Given the description of an element on the screen output the (x, y) to click on. 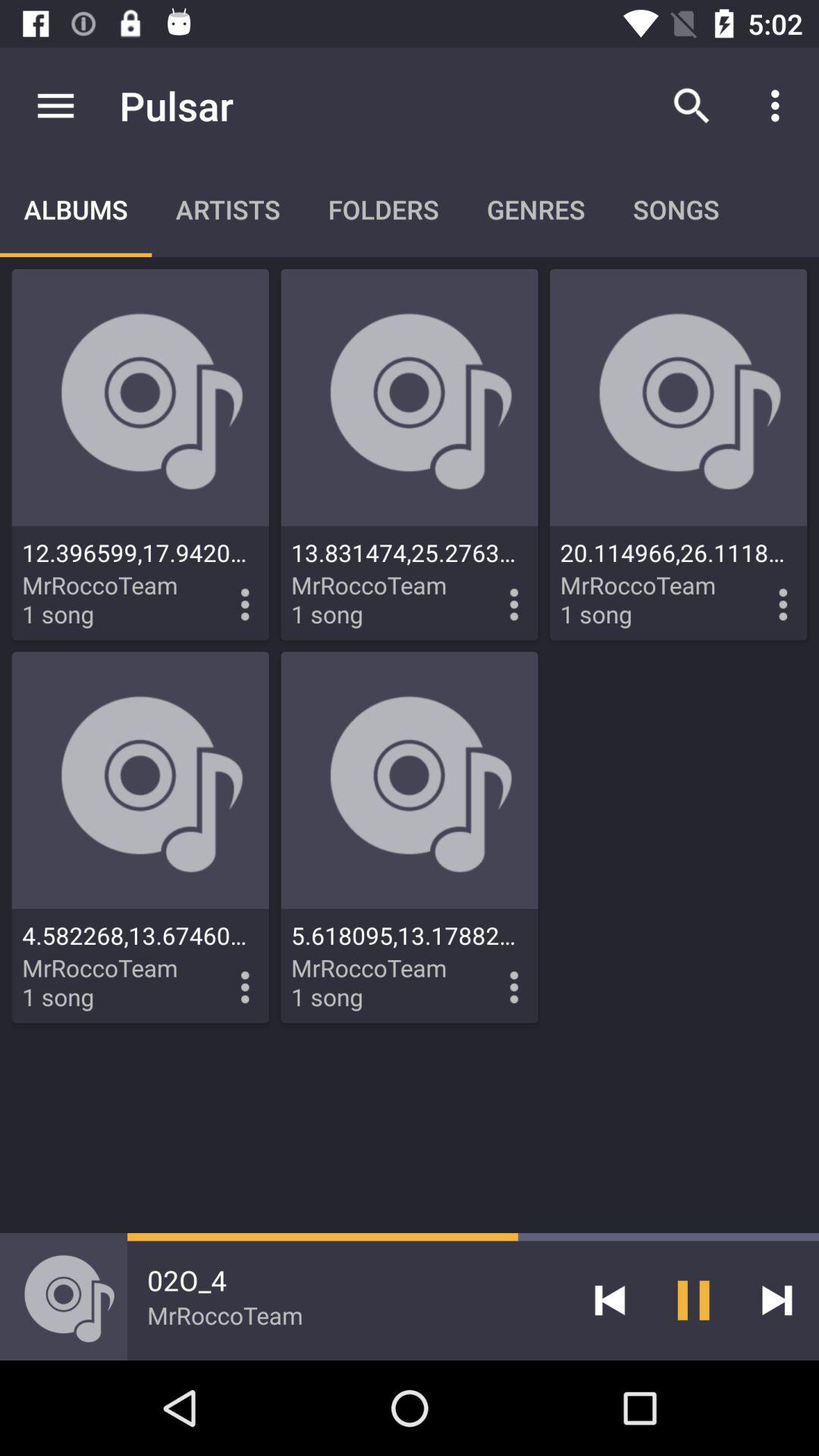
open the item next to the pulsar icon (55, 105)
